Given the description of an element on the screen output the (x, y) to click on. 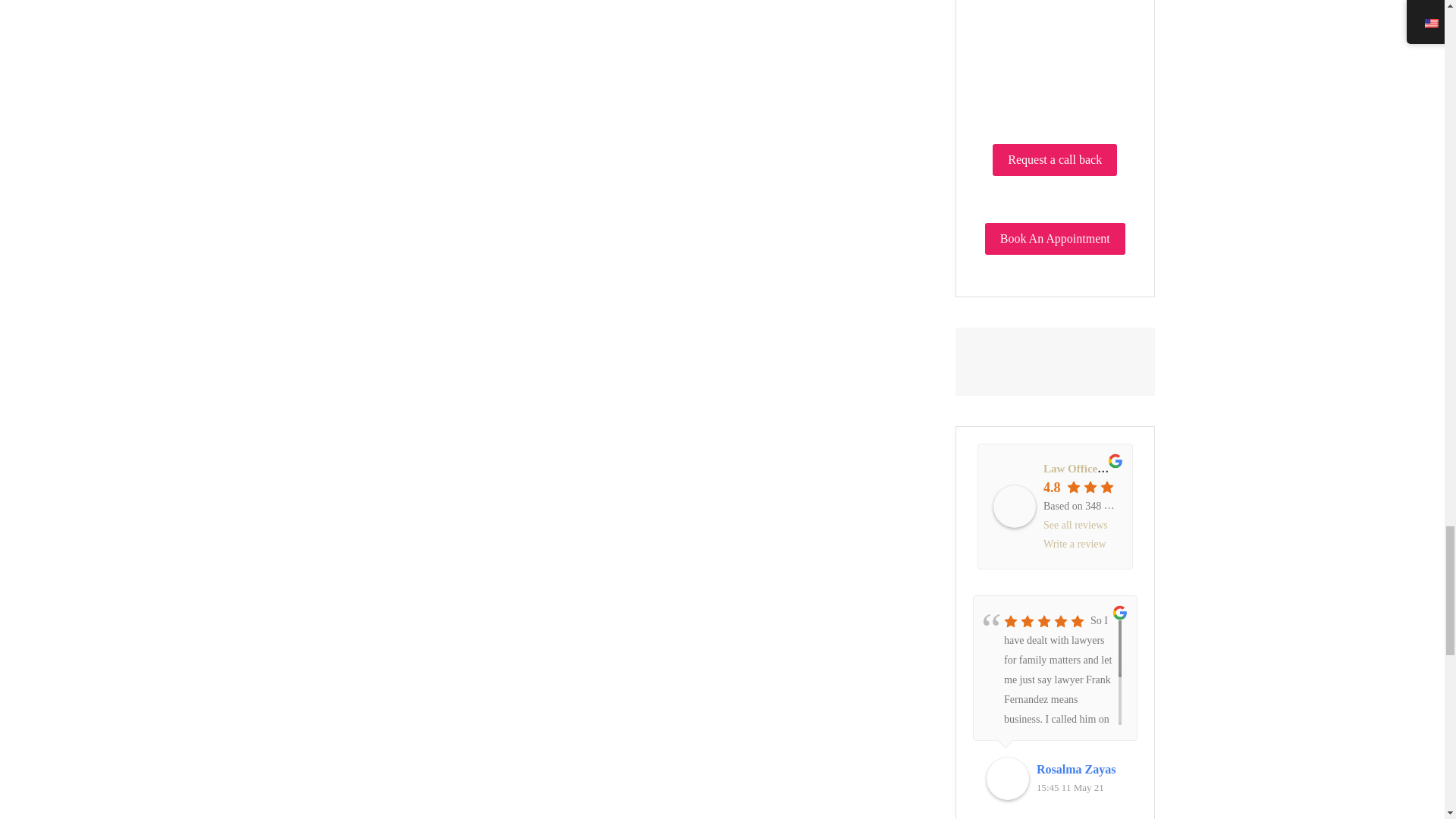
Rosalma Zayas (1080, 769)
Rosalma Zayas (1008, 778)
Law Office Of Frank Fernandez, Esq. (1013, 506)
